Given the description of an element on the screen output the (x, y) to click on. 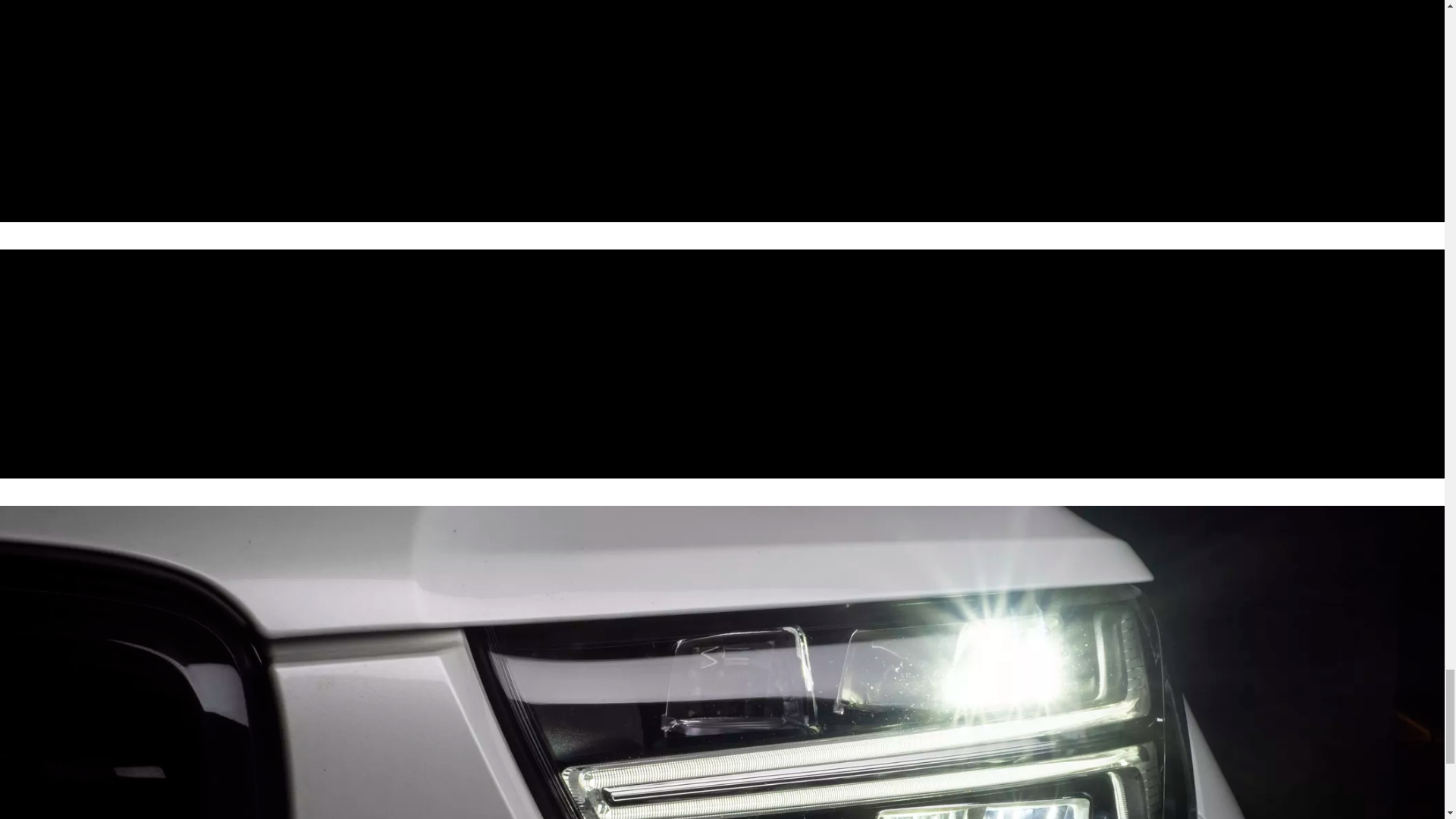
YouTube video player (928, 363)
YouTube video player (516, 110)
YouTube video player (928, 110)
YouTube video player (516, 363)
